Given the description of an element on the screen output the (x, y) to click on. 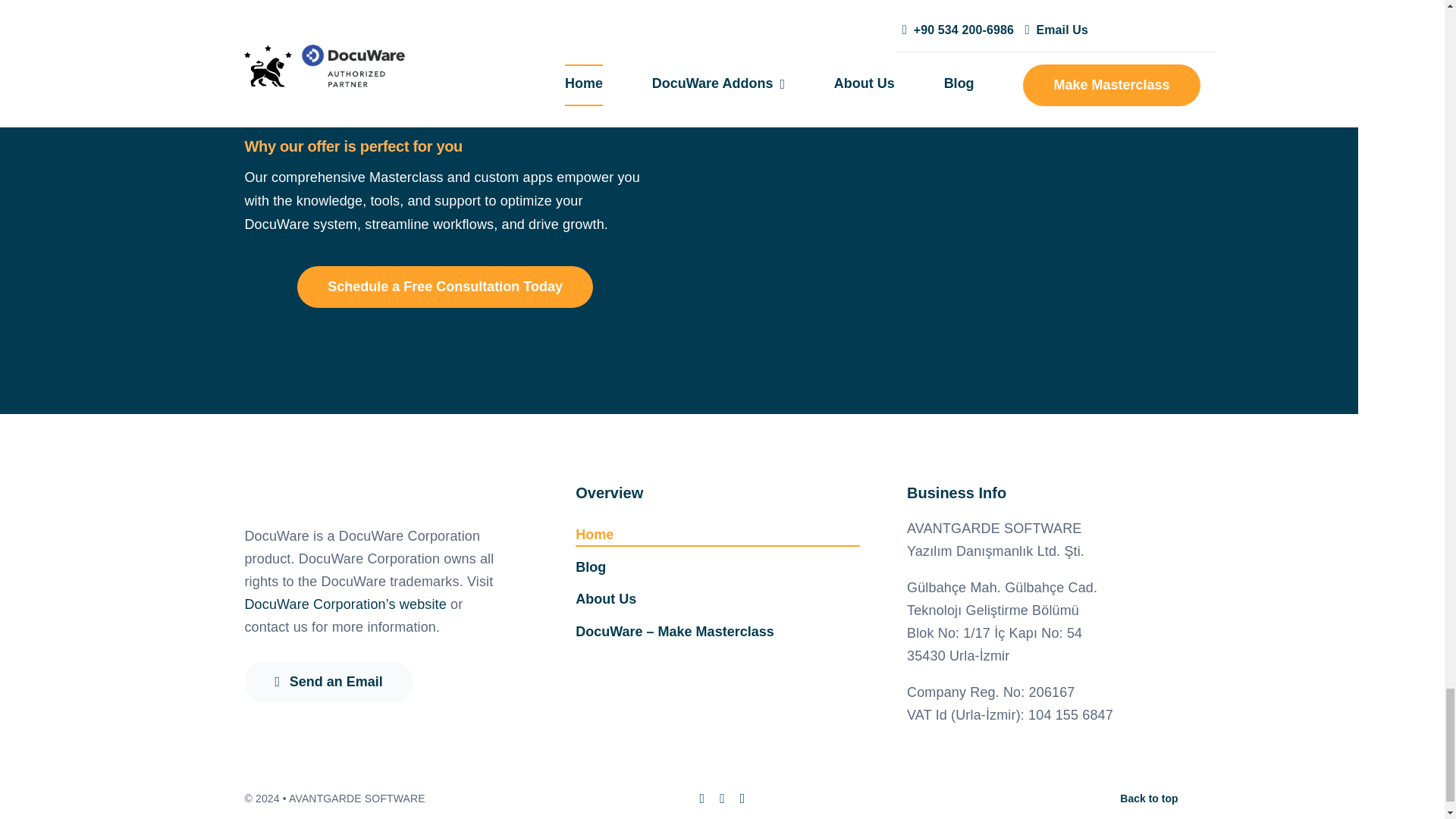
Delivering DocuWare Expertise (970, 43)
